Given the description of an element on the screen output the (x, y) to click on. 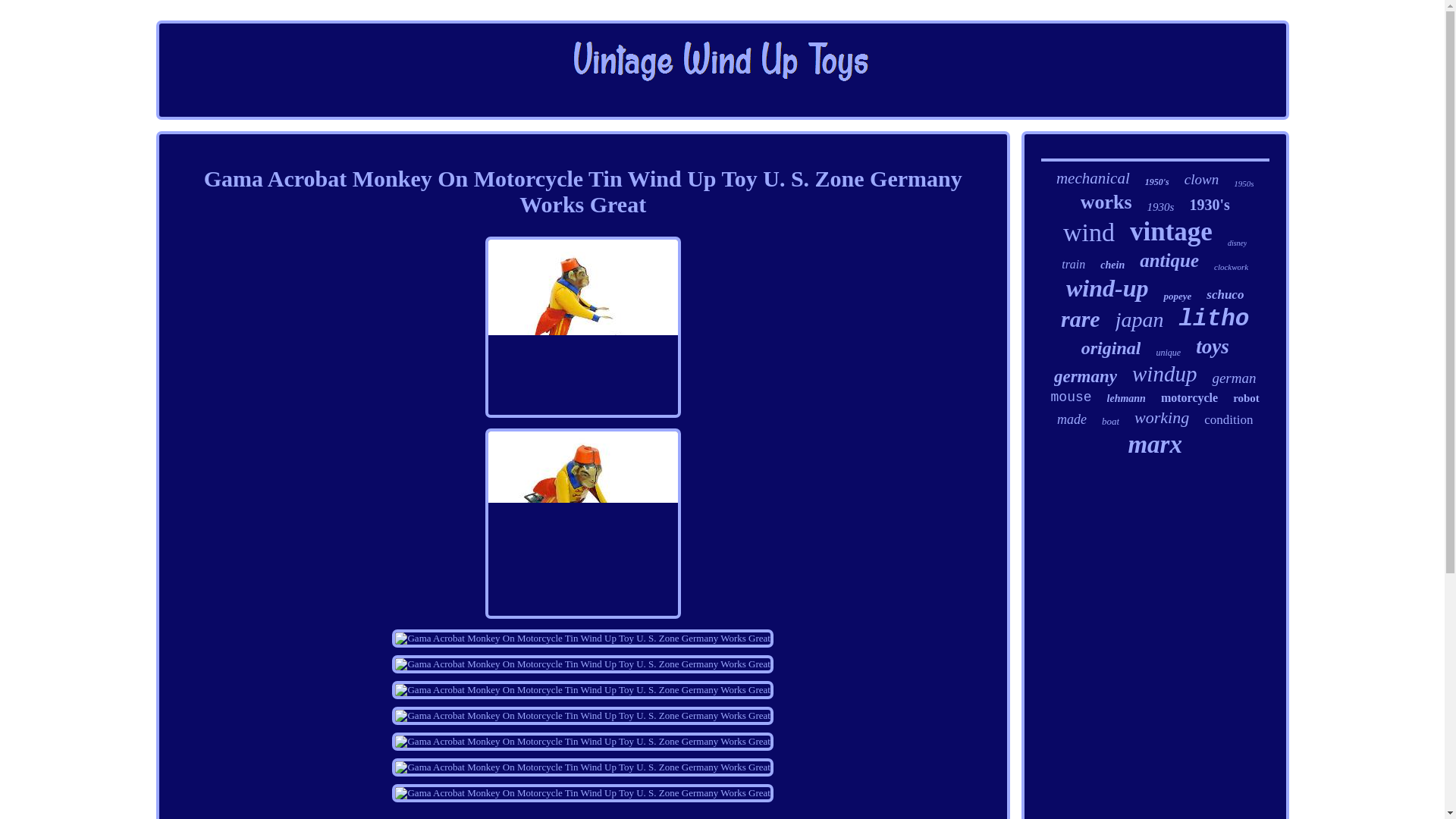
toys (1211, 346)
schuco (1225, 294)
mouse (1071, 396)
vintage (1170, 232)
clockwork (1230, 266)
wind-up (1106, 288)
1930's (1208, 204)
chein (1112, 265)
1950's (1156, 182)
1950s (1243, 183)
